Given the description of an element on the screen output the (x, y) to click on. 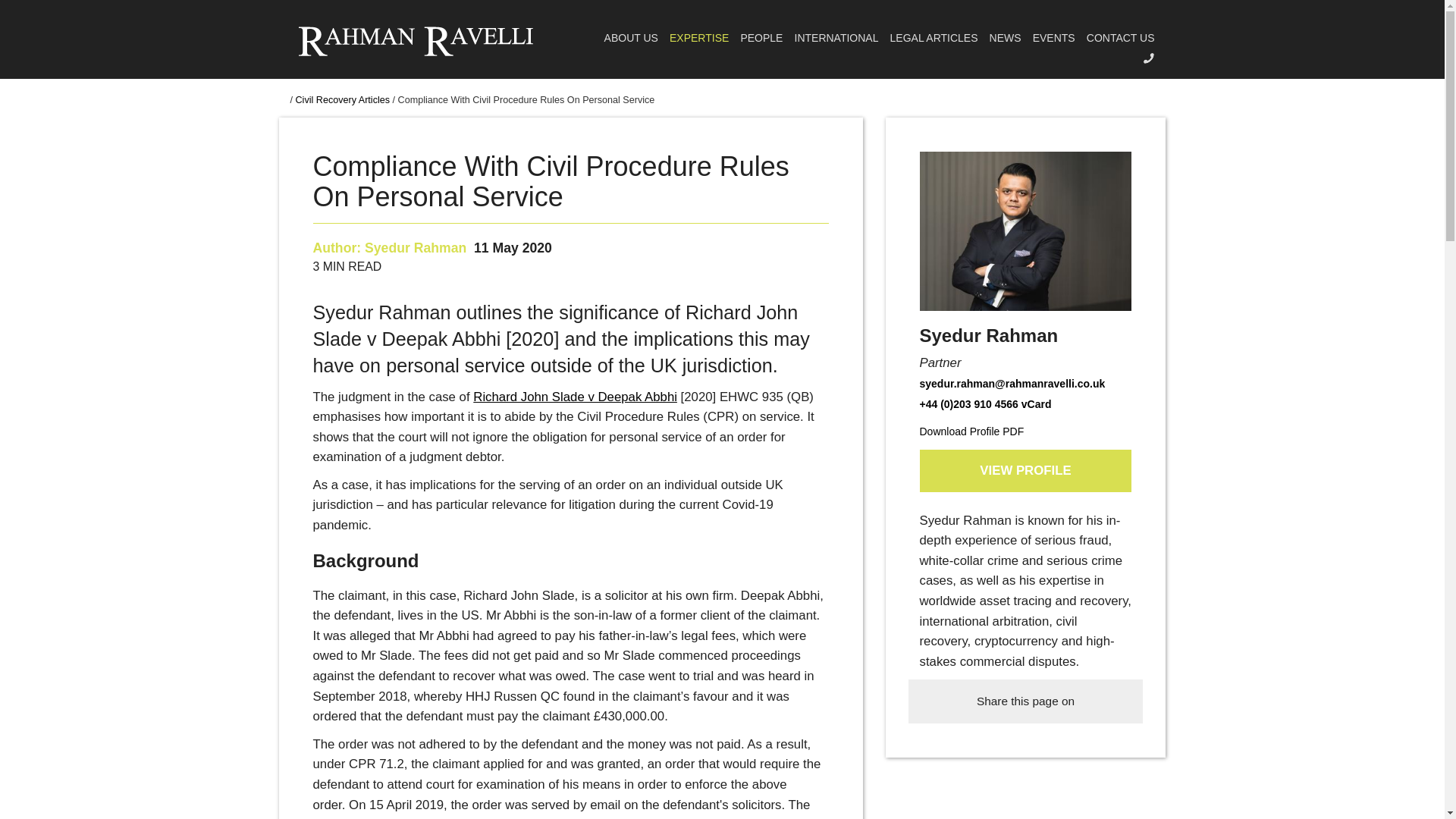
View Syedur Rahman's Profile (415, 247)
